Given the description of an element on the screen output the (x, y) to click on. 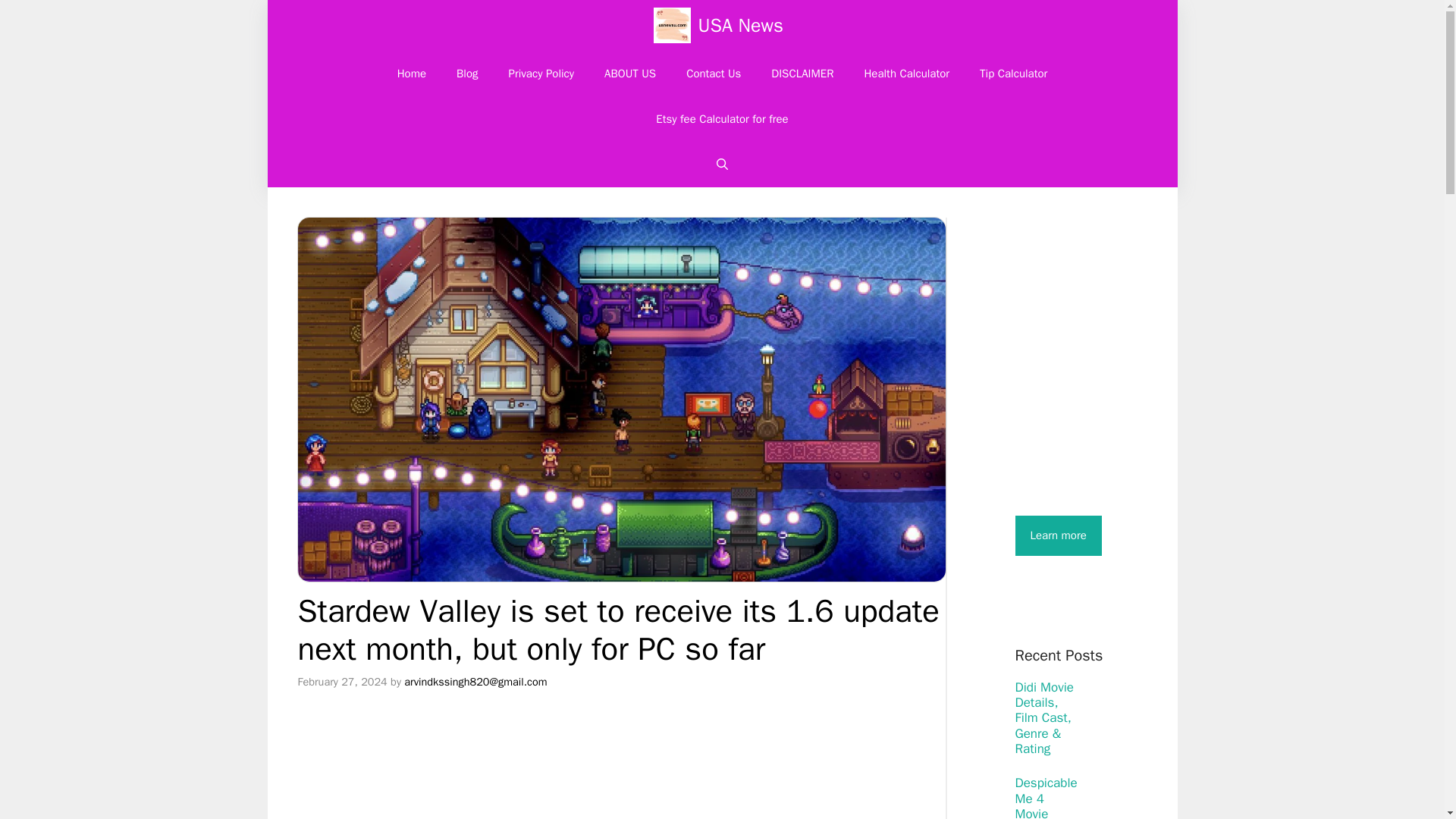
Contact Us (713, 73)
Tip Calculator (1012, 73)
Home (411, 73)
Blog (467, 73)
DISCLAIMER (801, 73)
Health Calculator (905, 73)
Etsy fee Calculator for free (721, 118)
USA News (740, 25)
Privacy Policy (541, 73)
ABOUT US (630, 73)
